Given the description of an element on the screen output the (x, y) to click on. 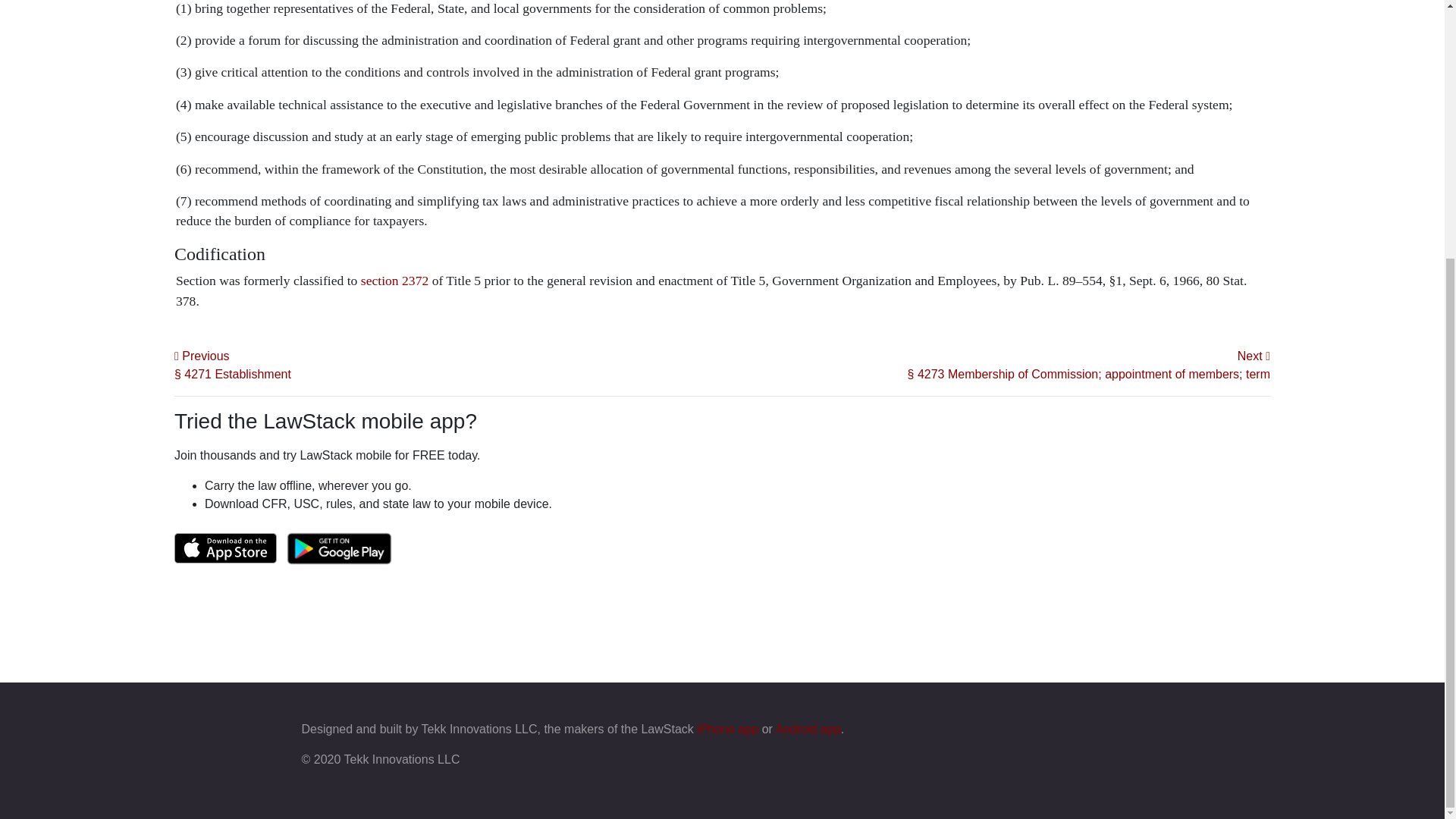
section 2372 (394, 280)
Android app (807, 728)
iPhone app (727, 728)
